Given the description of an element on the screen output the (x, y) to click on. 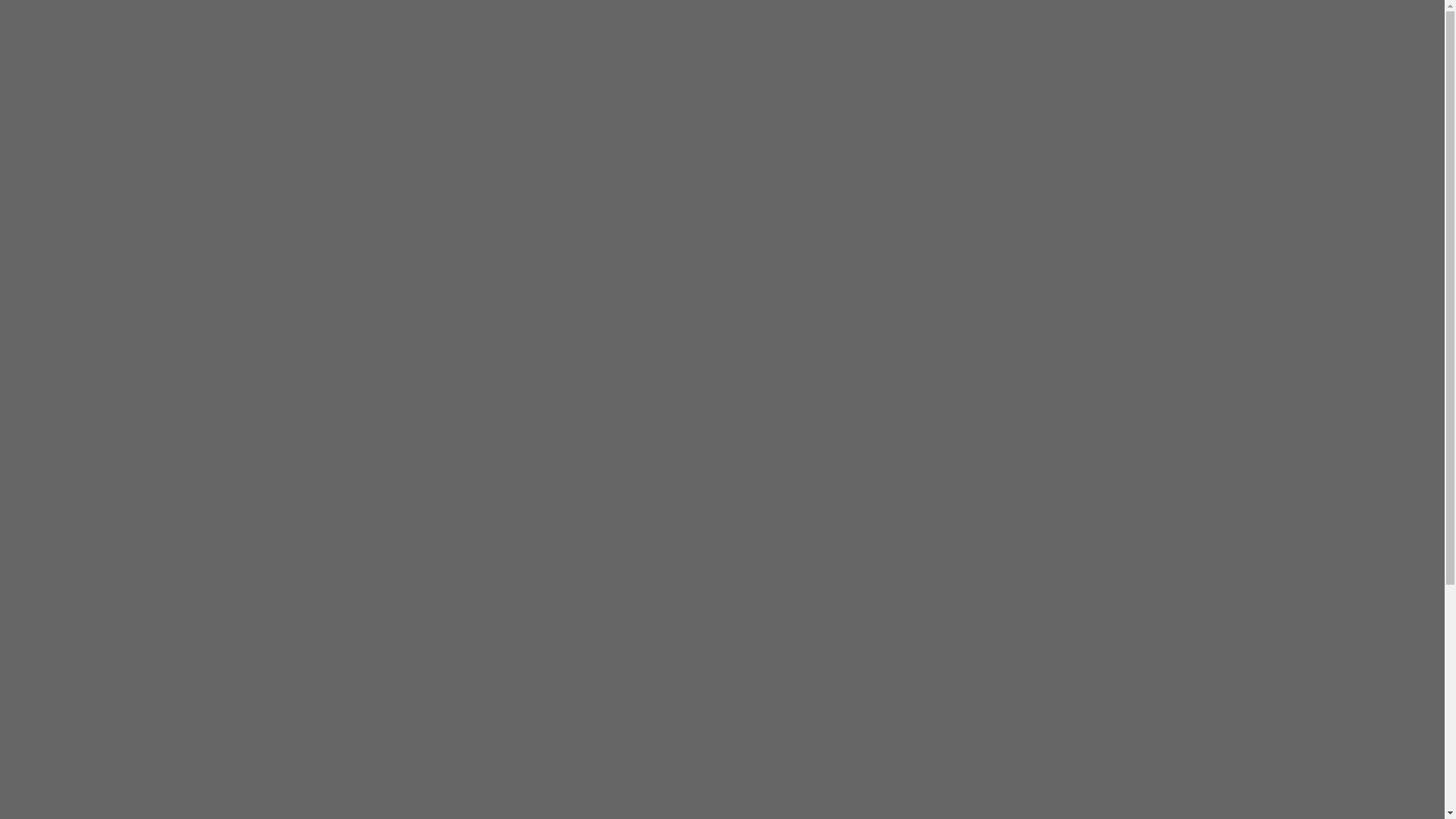
ABSENDEN Element type: text (633, 655)
